Given the description of an element on the screen output the (x, y) to click on. 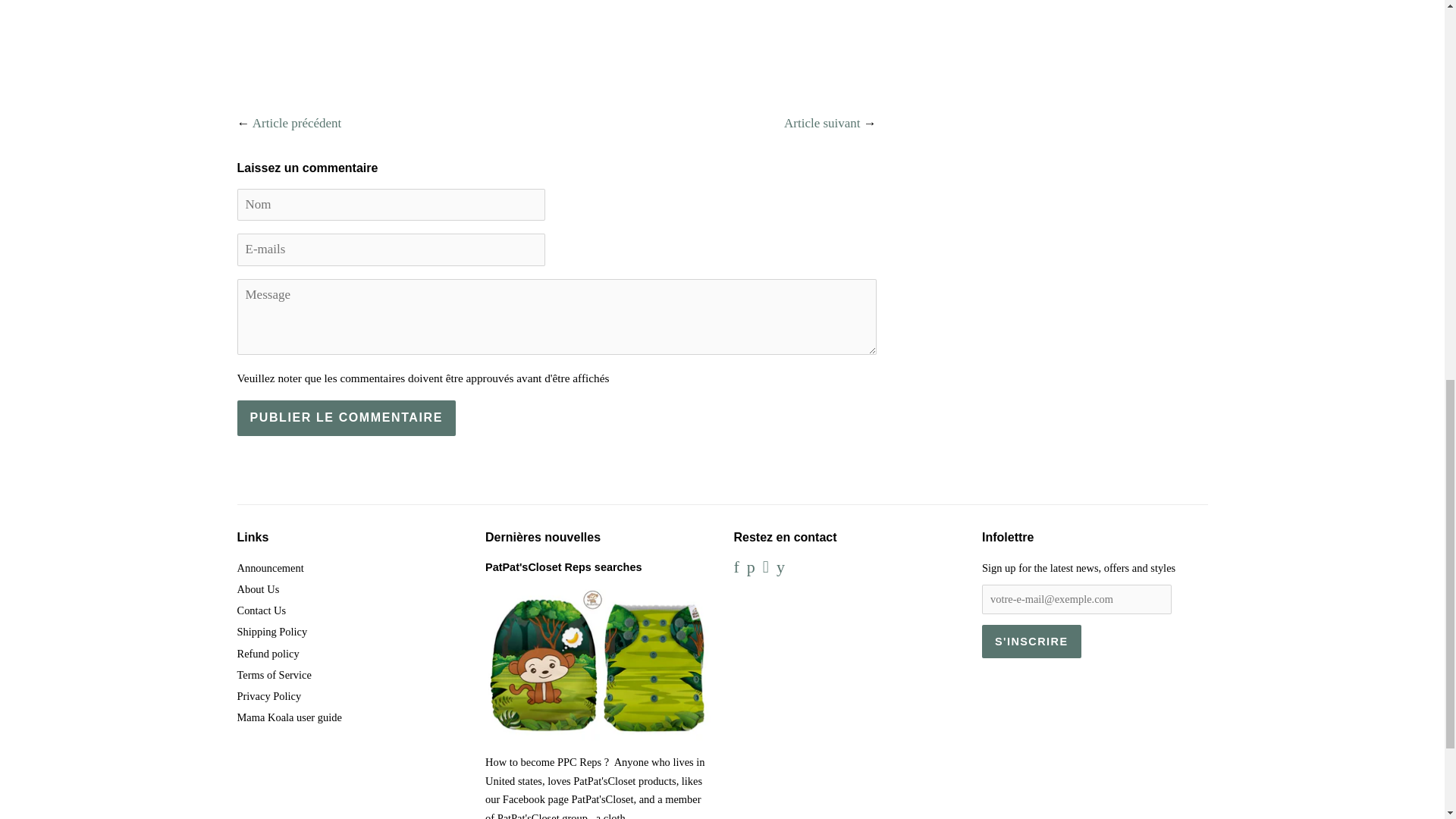
Publier le commentaire (344, 417)
S'inscrire (1031, 641)
